Given the description of an element on the screen output the (x, y) to click on. 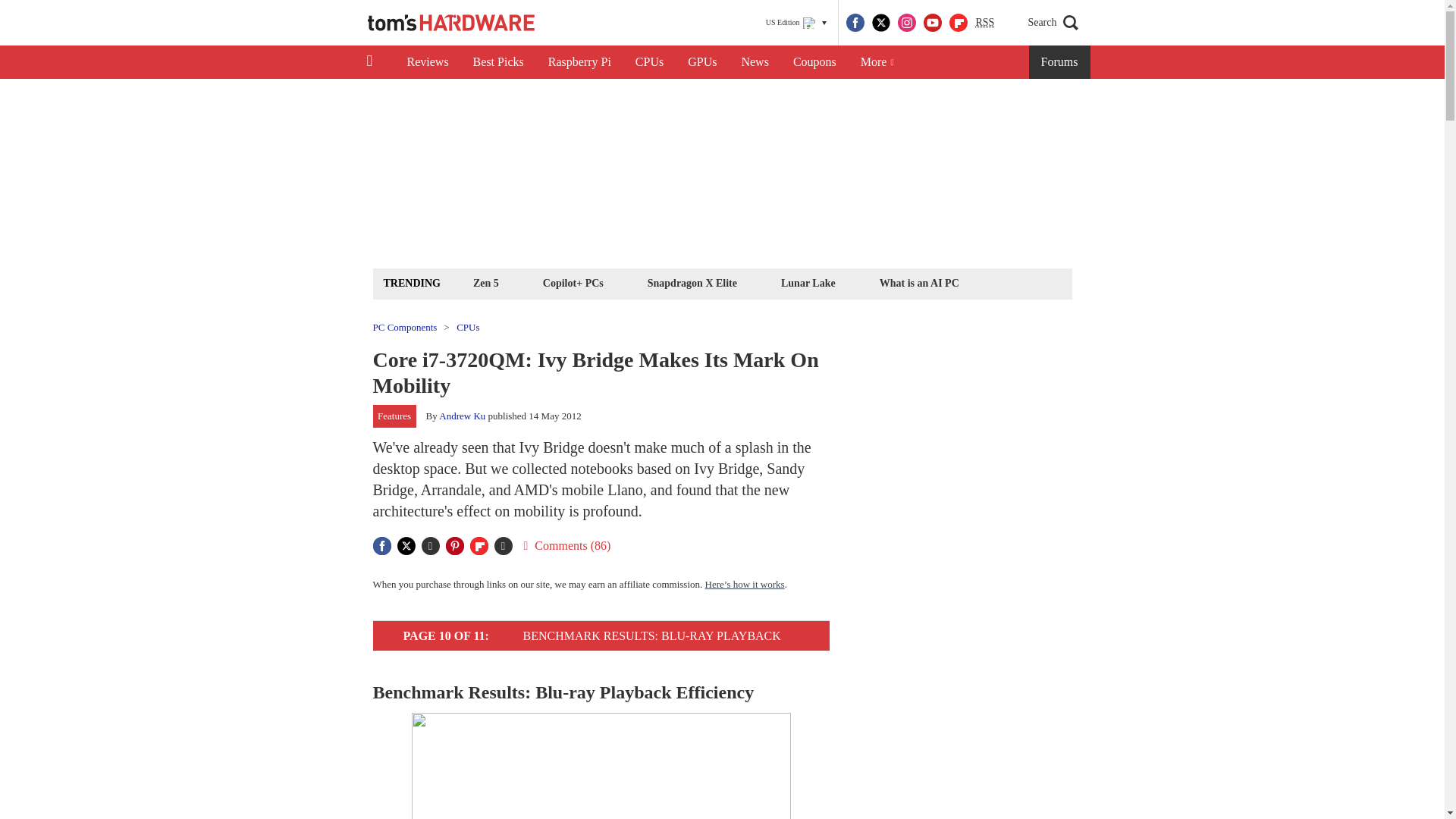
News (754, 61)
US Edition (796, 22)
GPUs (702, 61)
RSS (984, 22)
Really Simple Syndication (984, 21)
Zen 5 (485, 282)
Best Picks (498, 61)
Reviews (427, 61)
CPUs (649, 61)
Coupons (814, 61)
Forums (1059, 61)
Raspberry Pi (579, 61)
